Given the description of an element on the screen output the (x, y) to click on. 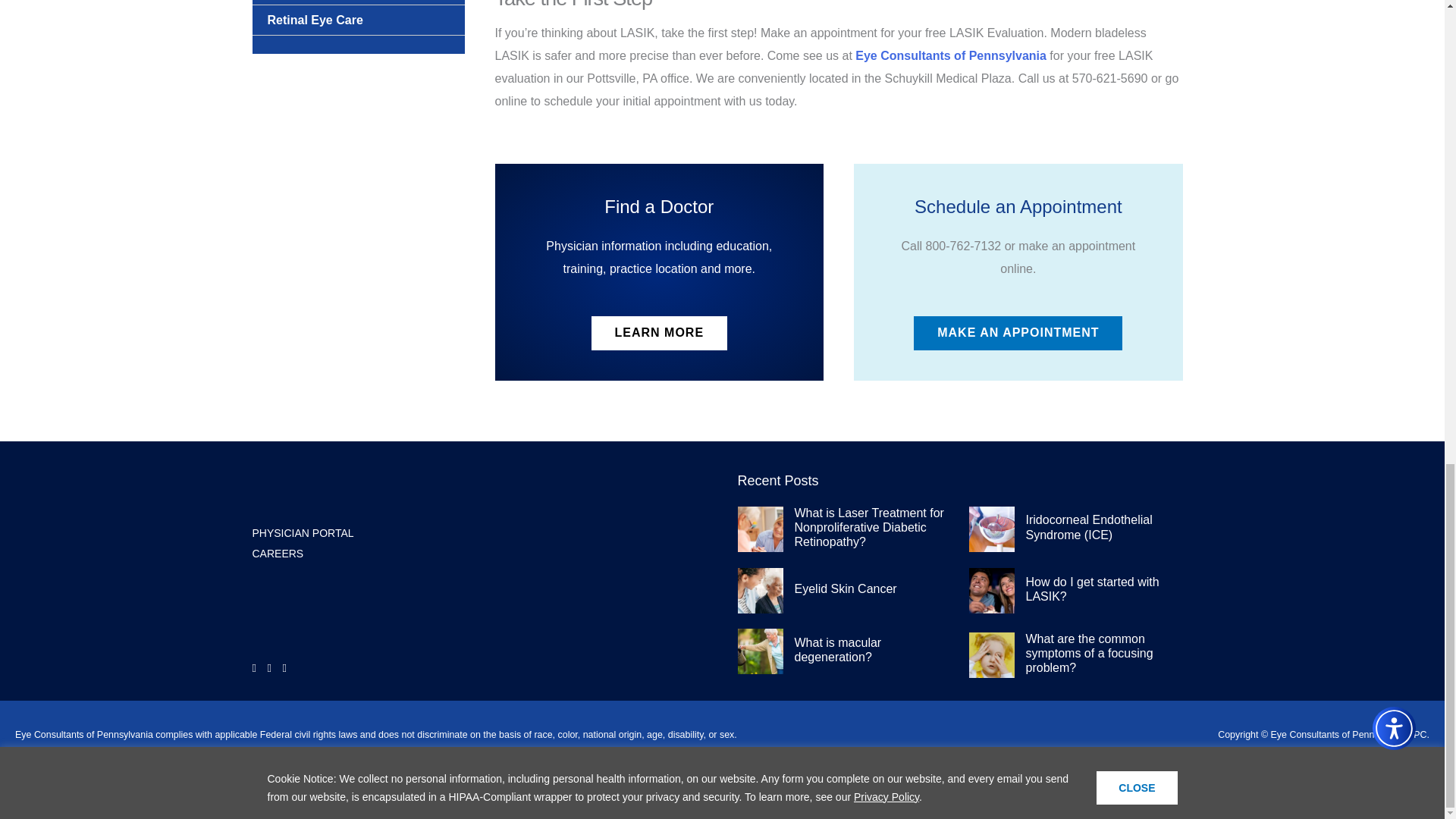
What are the common symptoms of a focusing problem? (1089, 653)
Eyelid Skin Cancer (845, 588)
How do I get started with LASIK? (1091, 588)
What is macular degeneration? (838, 649)
